Given the description of an element on the screen output the (x, y) to click on. 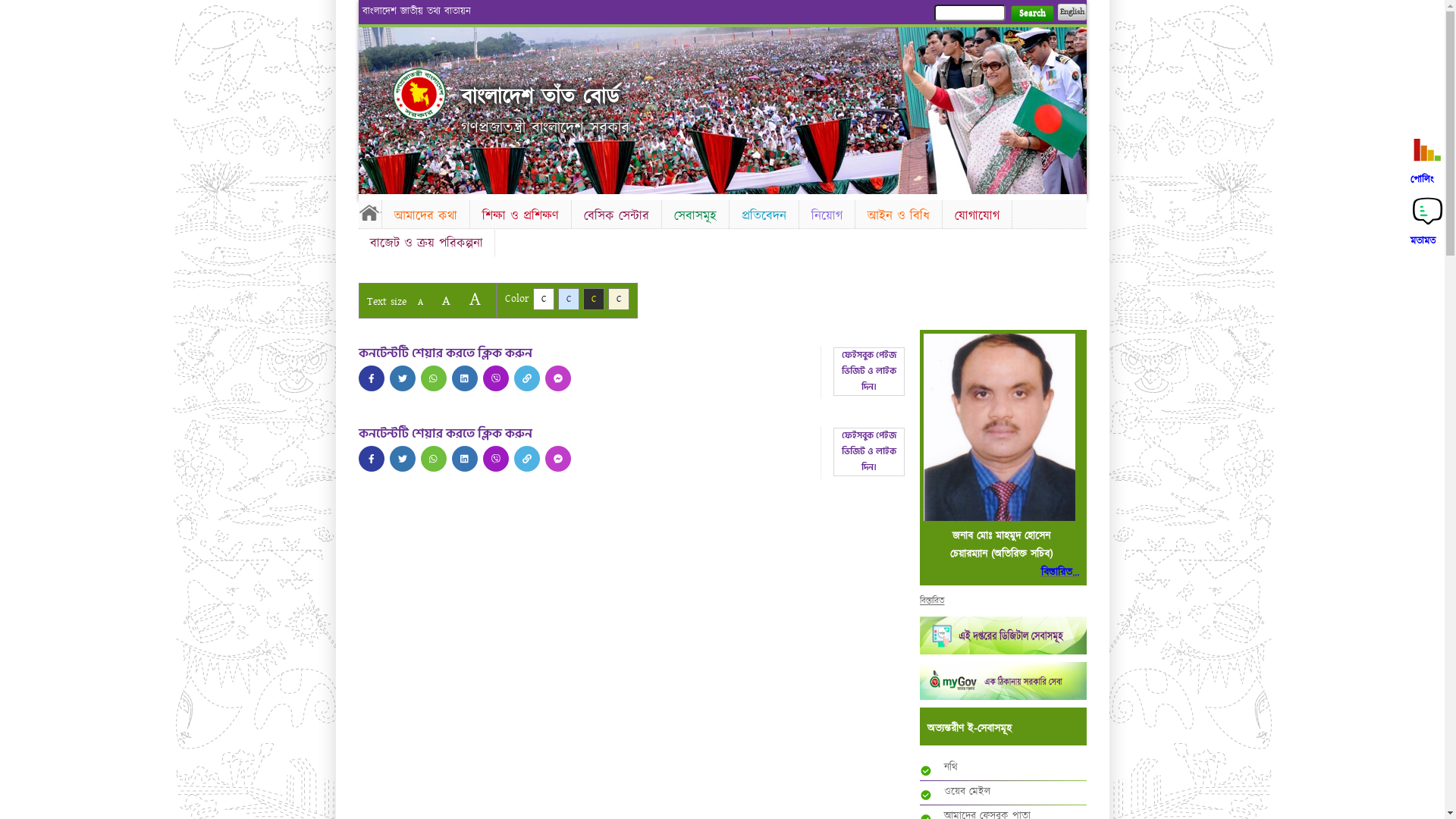
Search Element type: text (1031, 13)
C Element type: text (568, 299)
C Element type: text (592, 299)
C Element type: text (542, 299)
Home Element type: hover (418, 93)
C Element type: text (618, 299)
A Element type: text (419, 301)
English Element type: text (1071, 11)
Home Element type: hover (368, 211)
A Element type: text (474, 298)
A Element type: text (445, 300)
